Given the description of an element on the screen output the (x, y) to click on. 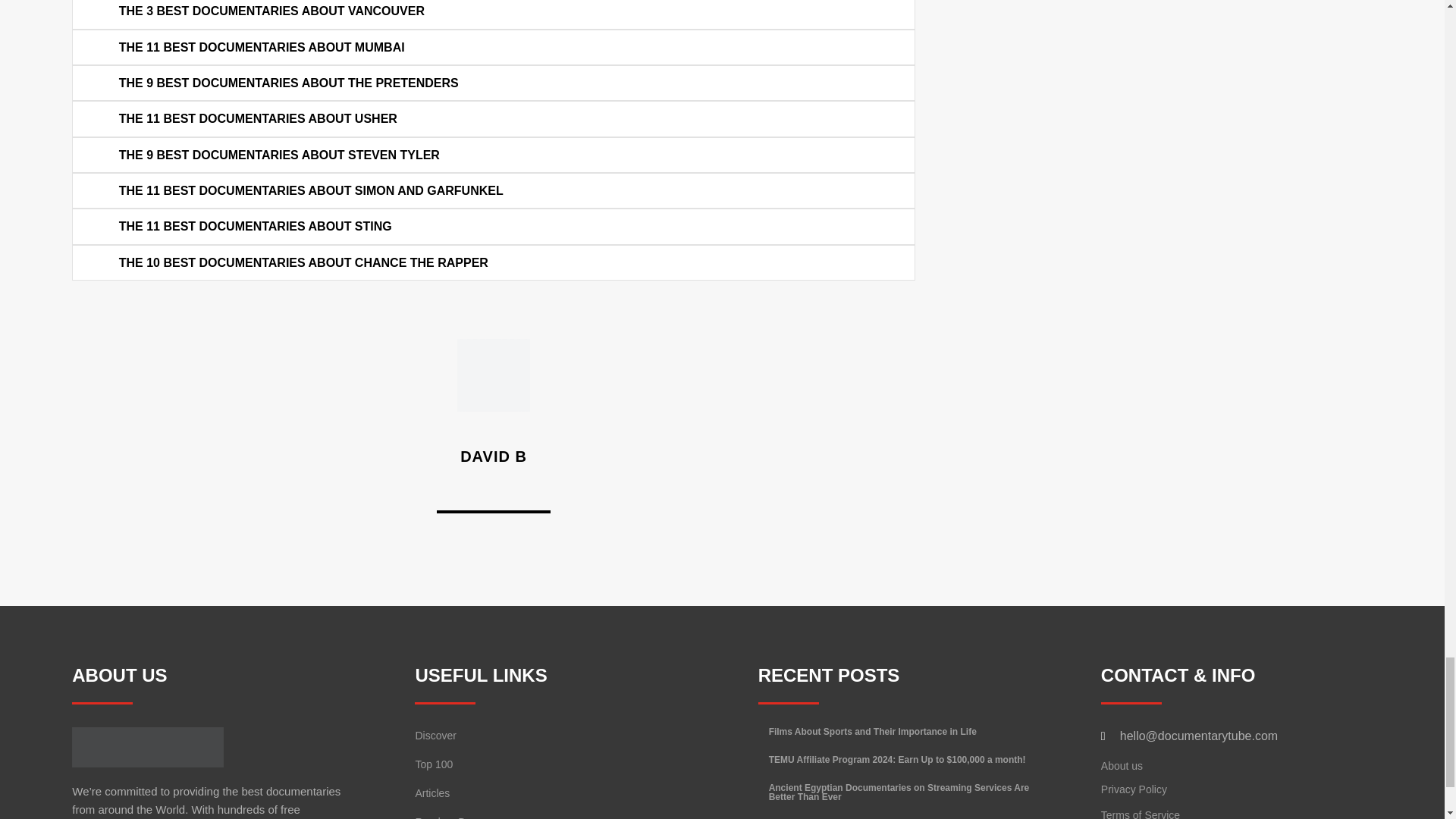
THE 11 BEST DOCUMENTARIES ABOUT USHER (258, 119)
THE 11 BEST DOCUMENTARIES ABOUT STING (255, 226)
THE 10 BEST DOCUMENTARIES ABOUT CHANCE THE RAPPER (303, 262)
THE 9 BEST DOCUMENTARIES ABOUT THE PRETENDERS (288, 82)
THE 11 BEST DOCUMENTARIES ABOUT SIMON AND GARFUNKEL (311, 190)
THE 11 BEST DOCUMENTARIES ABOUT MUMBAI (261, 47)
THE 9 BEST DOCUMENTARIES ABOUT STEVEN TYLER (279, 154)
dc-removebg-preview (147, 747)
THE 3 BEST DOCUMENTARIES ABOUT VANCOUVER (272, 10)
